Given the description of an element on the screen output the (x, y) to click on. 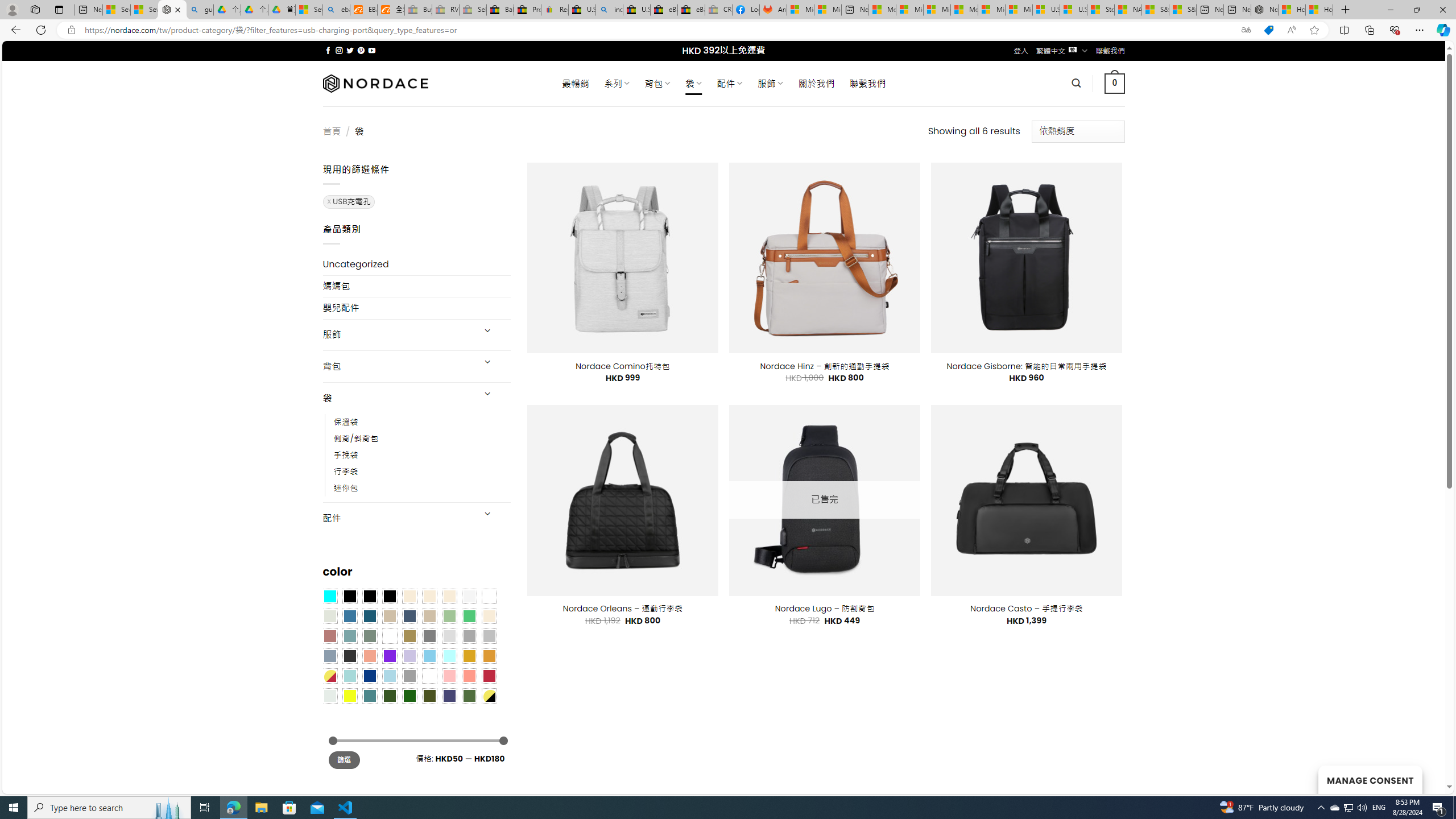
eBay Inc. Reports Third Quarter 2023 Results (691, 9)
App bar (728, 29)
Follow on Instagram (338, 50)
Show translate options (1245, 29)
Follow on Facebook (327, 50)
U.S. State Privacy Disclosures - eBay Inc. (636, 9)
including - Search (609, 9)
